Given the description of an element on the screen output the (x, y) to click on. 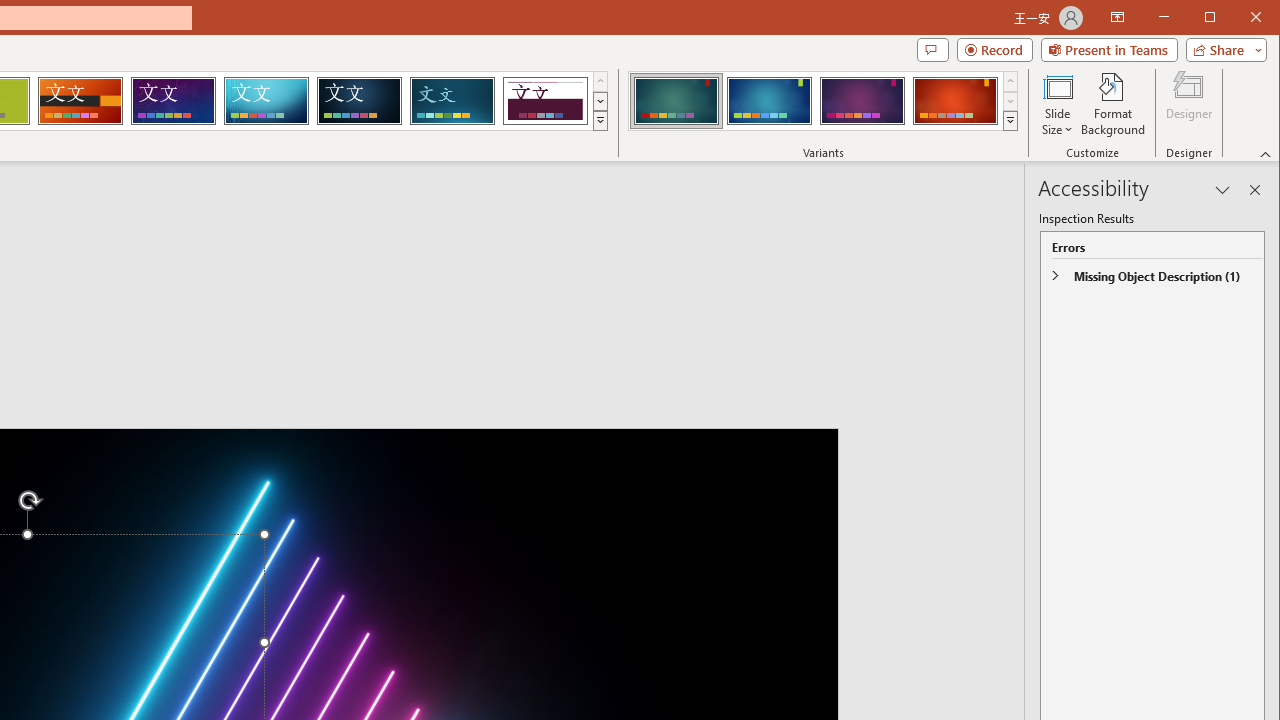
Ion Variant 2 (769, 100)
Present in Teams (1108, 49)
Maximize (1238, 18)
Collapse the Ribbon (1266, 154)
Share (1222, 49)
Themes (600, 120)
Close pane (1254, 189)
Dividend (545, 100)
Depth (452, 100)
Circuit (266, 100)
Berlin (80, 100)
Comments (932, 49)
Ribbon Display Options (1117, 17)
Ion Variant 4 (955, 100)
Slide Size (1057, 104)
